Given the description of an element on the screen output the (x, y) to click on. 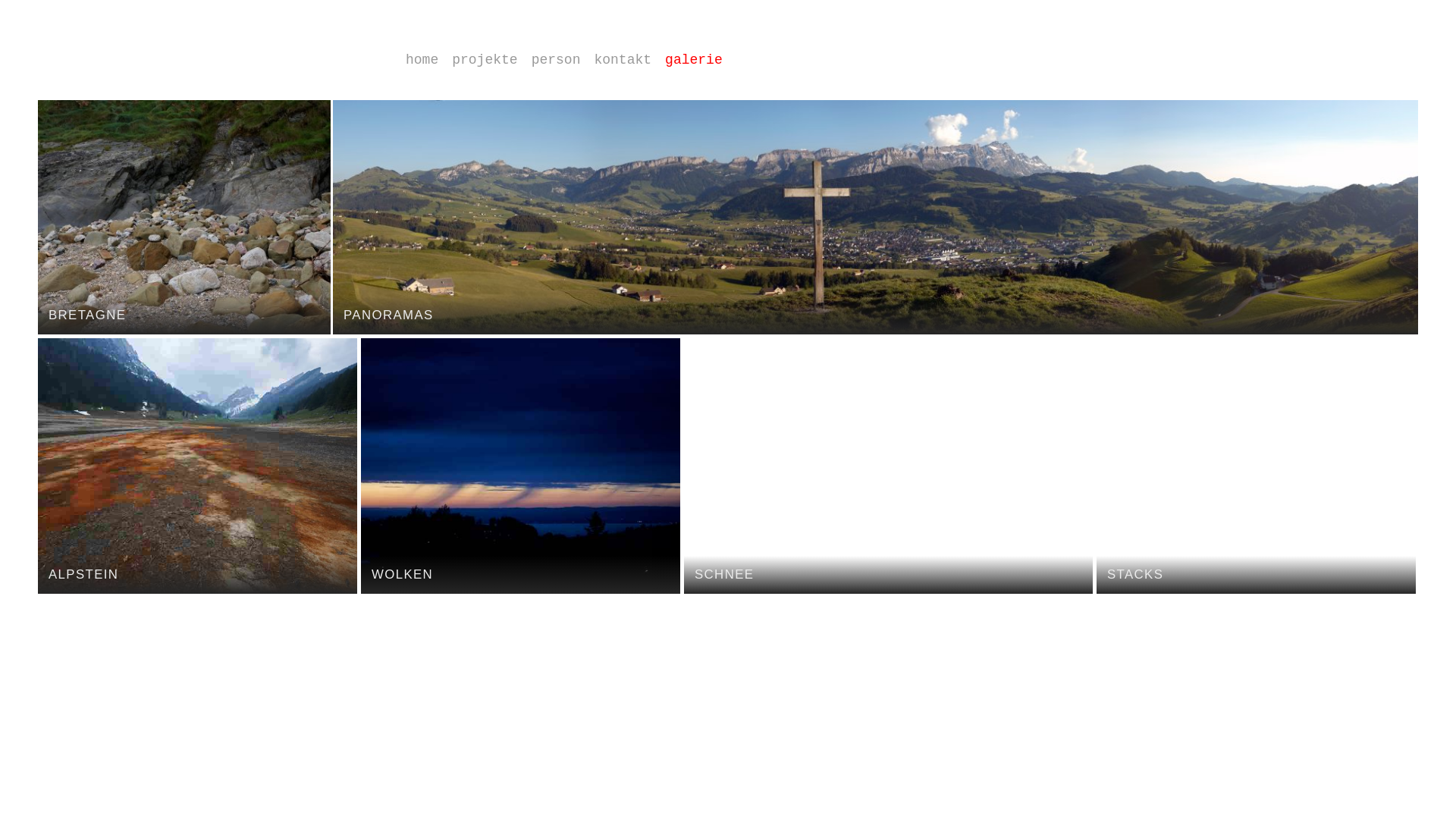
kontakt Element type: text (629, 59)
person Element type: text (562, 59)
projekte Element type: text (490, 59)
home Element type: text (428, 59)
